Given the description of an element on the screen output the (x, y) to click on. 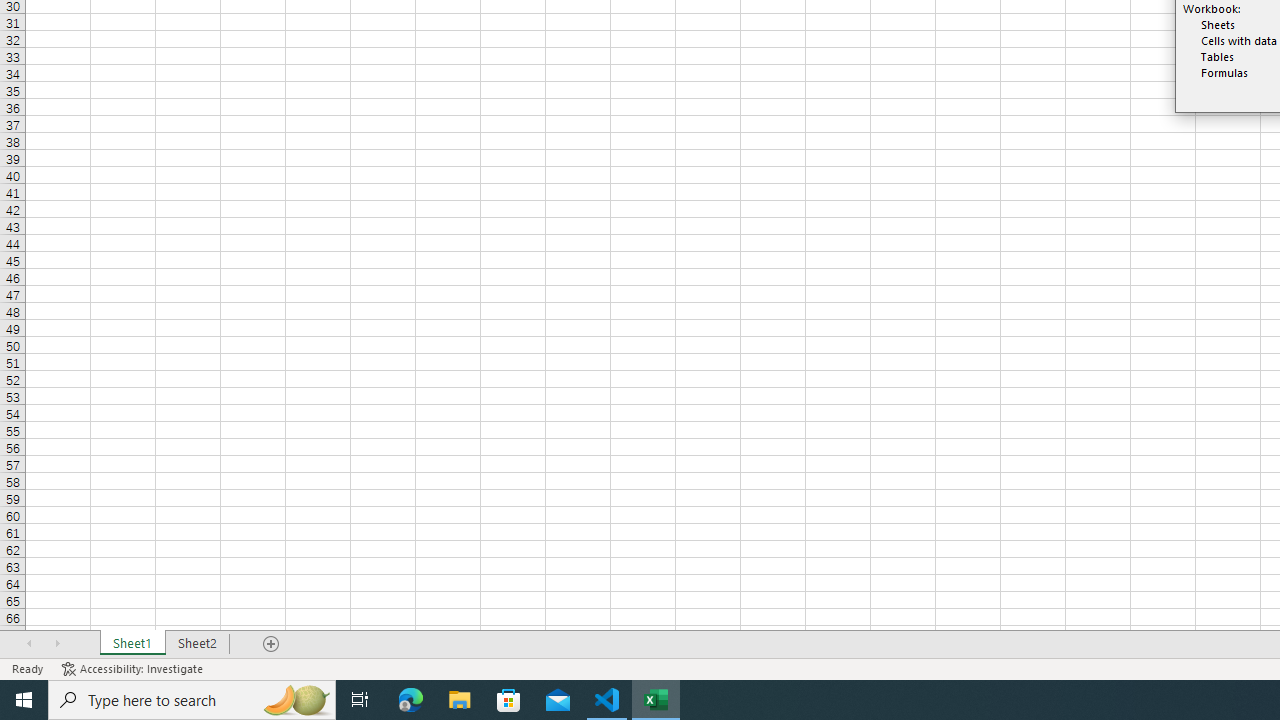
Microsoft Edge (411, 699)
